Given the description of an element on the screen output the (x, y) to click on. 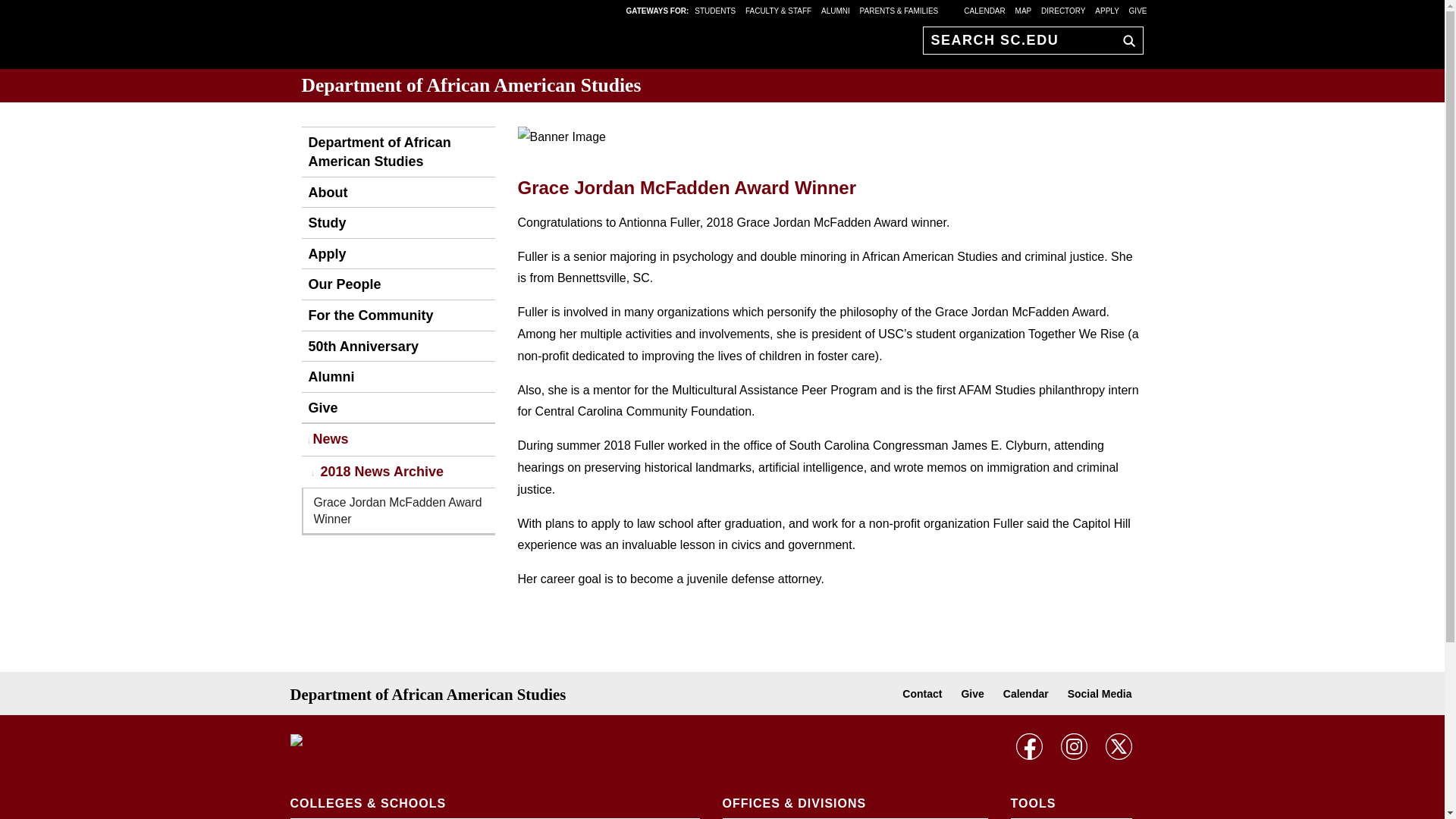
Department of African American Studies (398, 151)
DIRECTORY (1063, 9)
CALENDAR (983, 9)
MAP (1023, 9)
Department of African American Studies (471, 85)
ALUMNI (835, 9)
APPLY (1106, 9)
GO (1125, 40)
University of South Carolina (388, 740)
sc.edu Search (1125, 40)
